Given the description of an element on the screen output the (x, y) to click on. 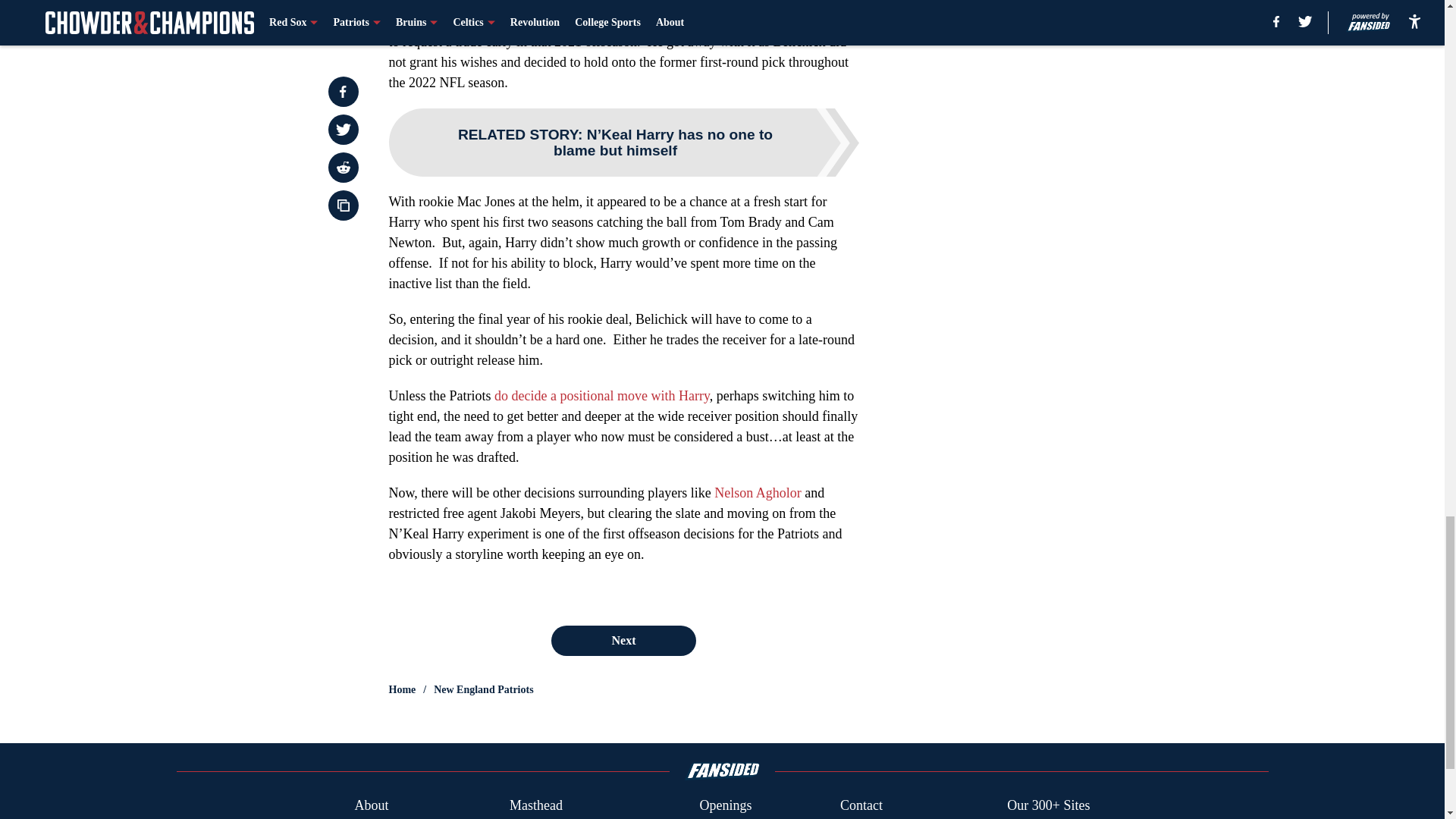
New England Patriots (482, 689)
Next (622, 640)
Nelson Agholor (758, 492)
Home (401, 689)
About (370, 805)
do decide a positional move with Harry (602, 395)
